Given the description of an element on the screen output the (x, y) to click on. 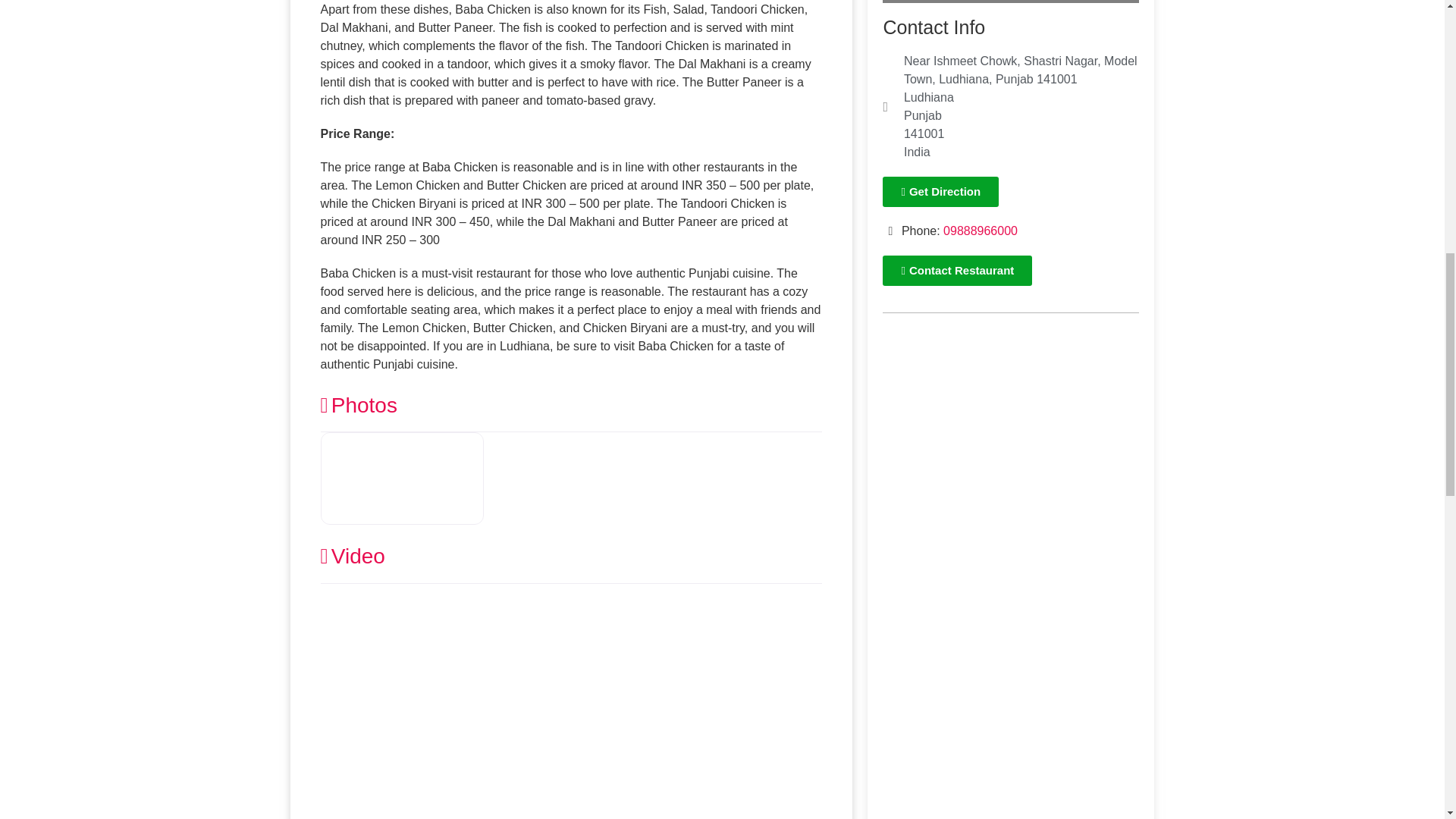
Photos (358, 404)
Contact Restaurant (957, 270)
09888966000 (980, 230)
Get Direction (940, 191)
Video (352, 556)
